Given the description of an element on the screen output the (x, y) to click on. 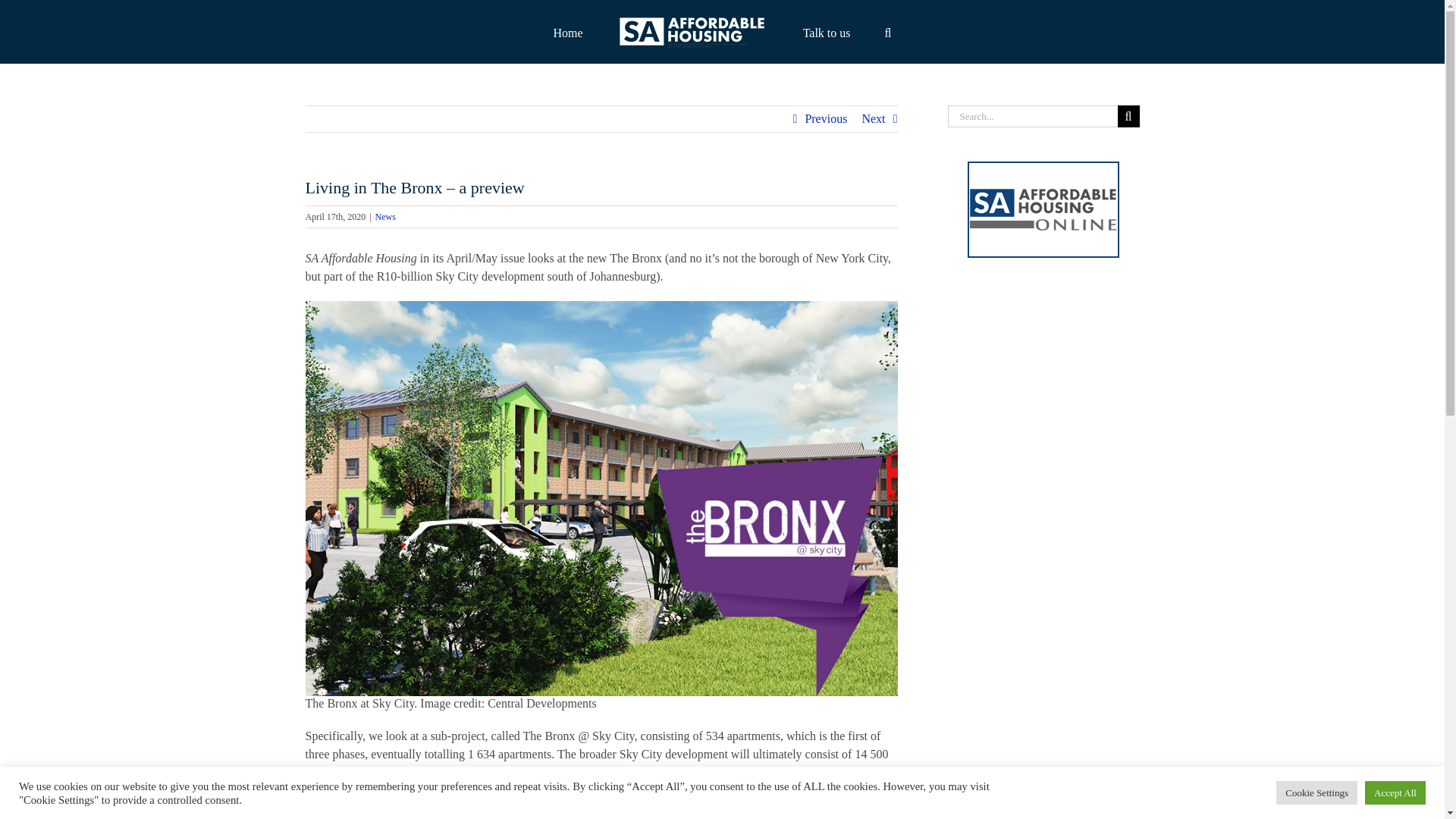
News (385, 216)
Accept All (1395, 792)
Cookie Settings (1316, 792)
Next (873, 118)
Previous (826, 118)
